Given the description of an element on the screen output the (x, y) to click on. 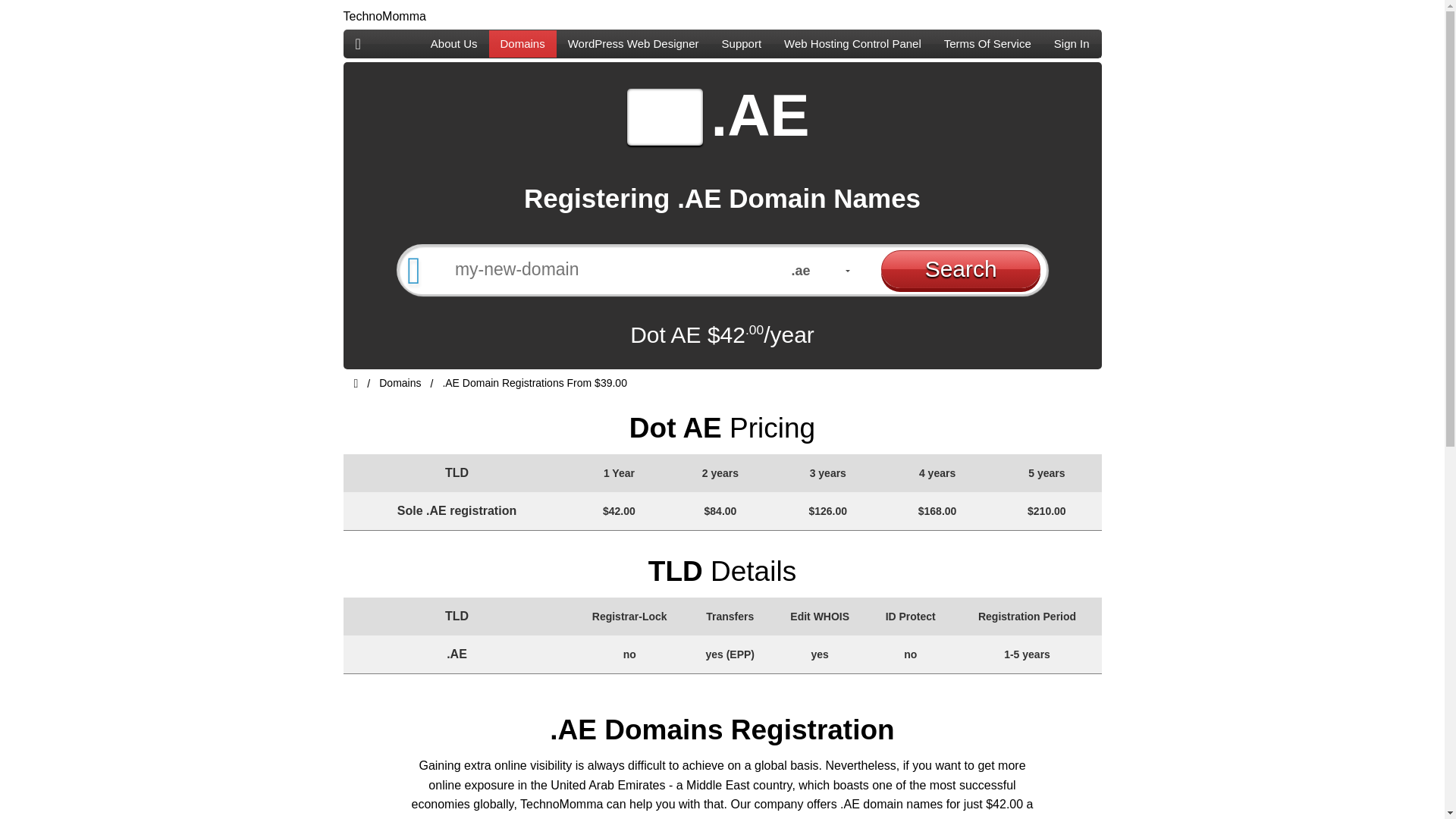
Support (741, 43)
About Us (454, 43)
Domains (522, 43)
WordPress Web Designer (633, 43)
